Given the description of an element on the screen output the (x, y) to click on. 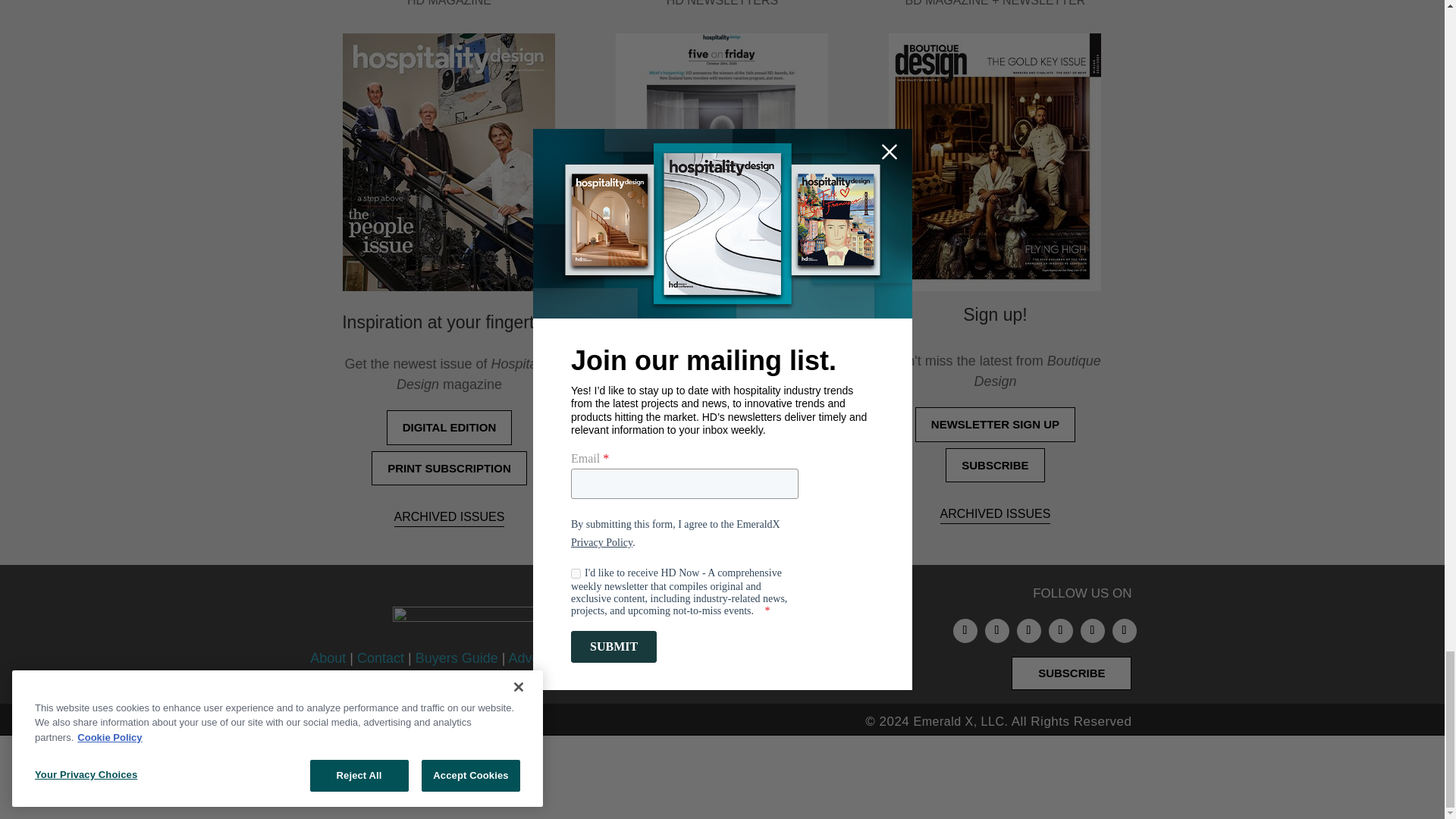
boutique design winter 2023 issue (994, 162)
Follow on X (1092, 630)
Follow on Instagram (964, 630)
authorized-service-providers (635, 779)
Follow on Facebook (1028, 630)
july 2024 cover (448, 162)
preview-full-Newsletter-Five-on-Friday (721, 162)
logo-white (506, 623)
Follow on Youtube (1124, 630)
terms-of-use (975, 779)
Follow on Pinterest (1060, 630)
careers (492, 779)
Follow on LinkedIn (997, 630)
your-privacy-choices (822, 779)
about (435, 779)
